Given the description of an element on the screen output the (x, y) to click on. 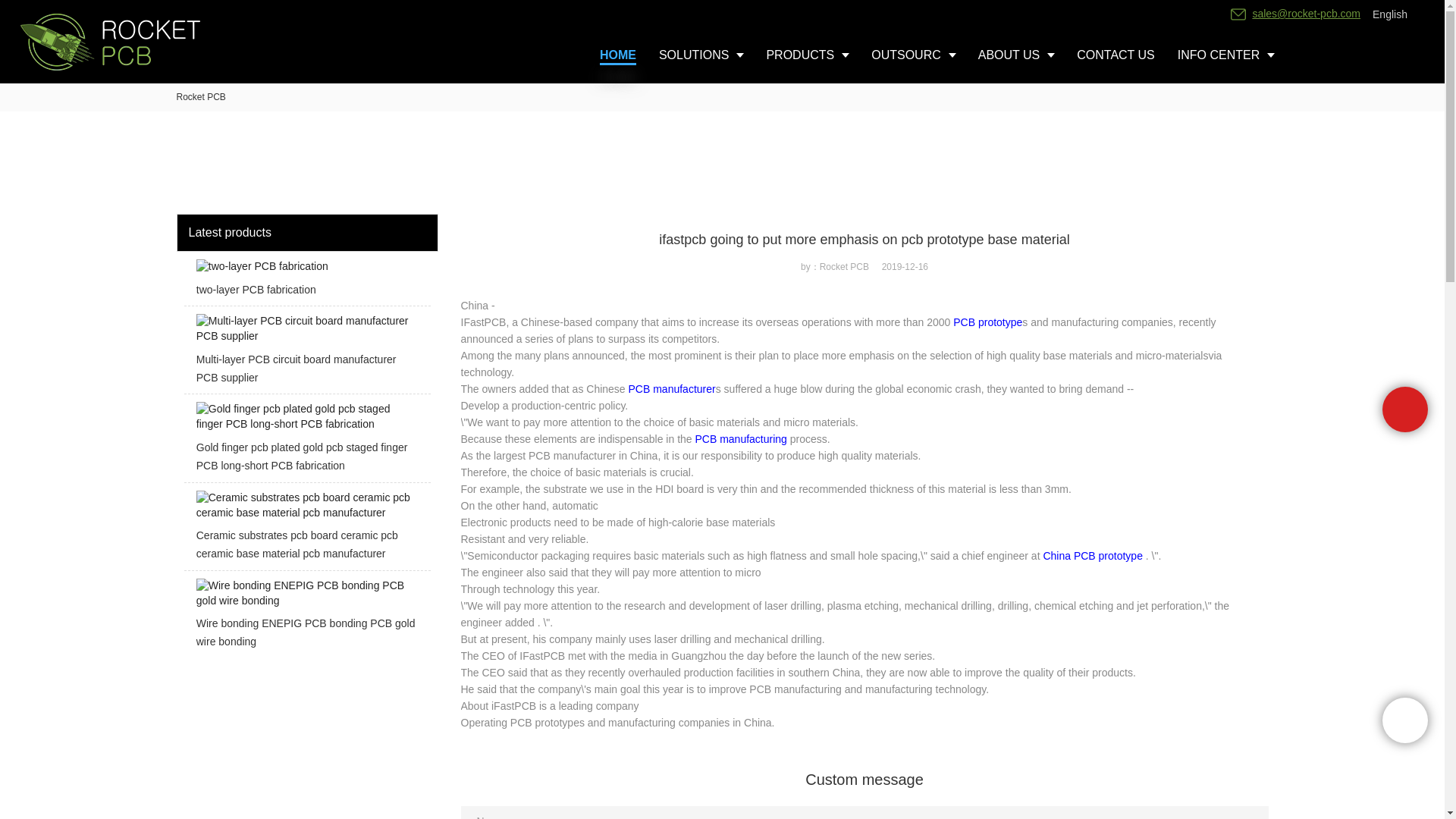
HOME (617, 55)
PRODUCTS (807, 55)
SOLUTIONS (700, 55)
